Given the description of an element on the screen output the (x, y) to click on. 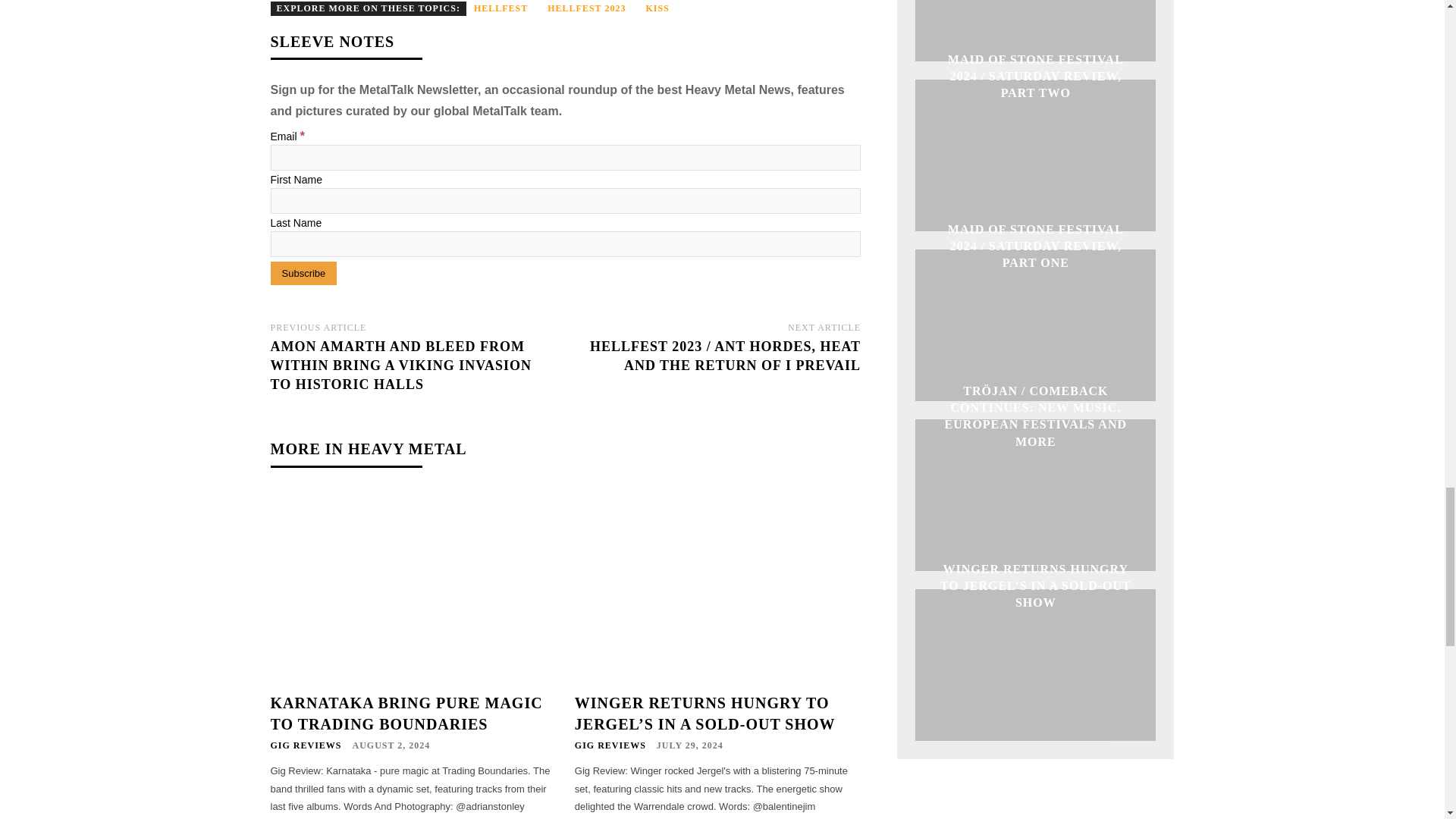
Subscribe (302, 273)
